Given the description of an element on the screen output the (x, y) to click on. 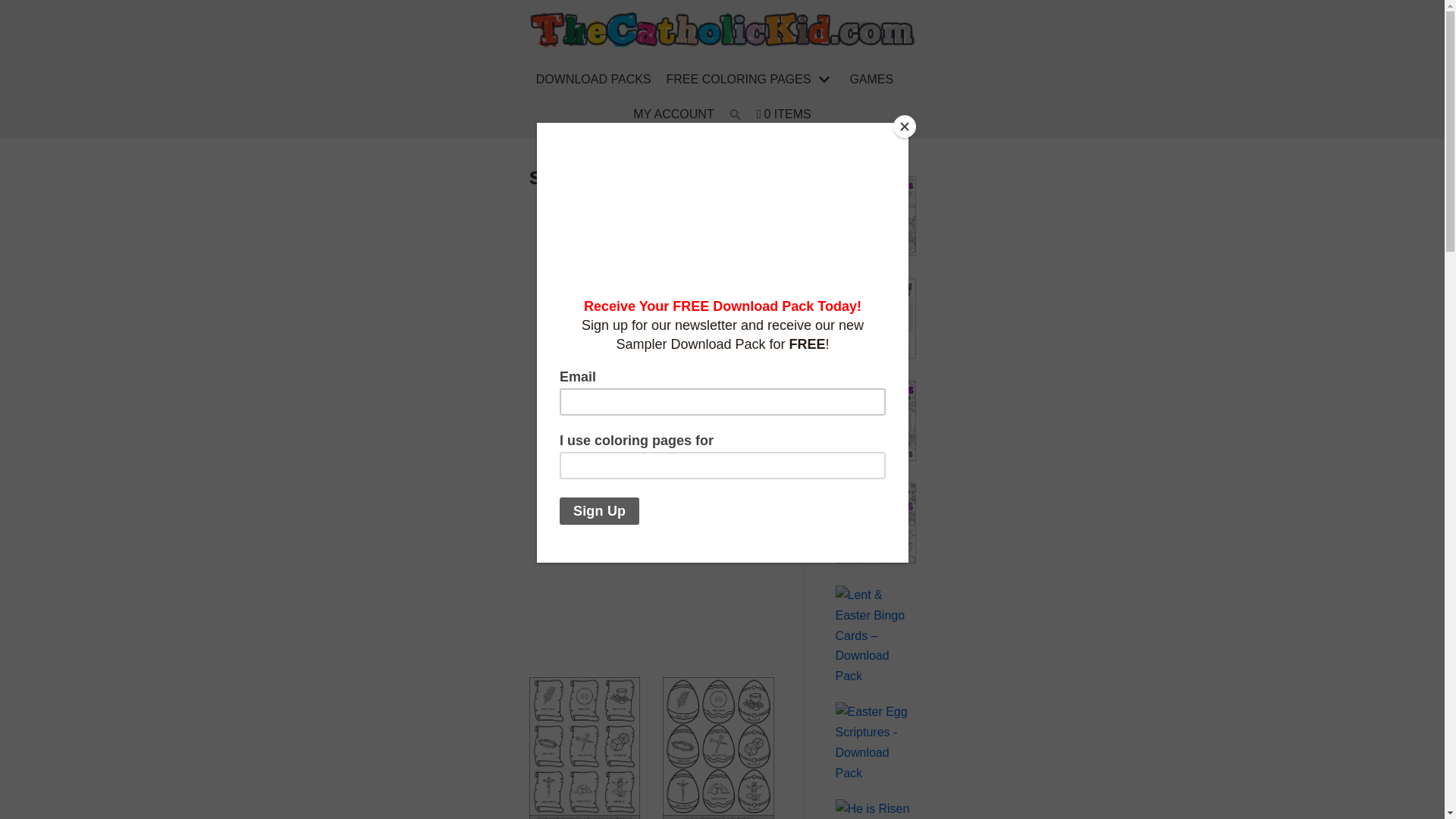
Lent Easter Construction Paper Craft Cross Tomb Lily (875, 354)
Start shopping (783, 114)
Stations of the Cross for Kids - Download Pack (875, 251)
DOWNLOAD PACKS (592, 79)
Scripture Verse Easter Eggs Coloring Page Cut Outs (718, 814)
GAMES (870, 79)
Advertisement (818, 549)
Resurrection Eggs Scripture Verse Cut Out Scrolls (584, 814)
Skip to content (15, 7)
